Given the description of an element on the screen output the (x, y) to click on. 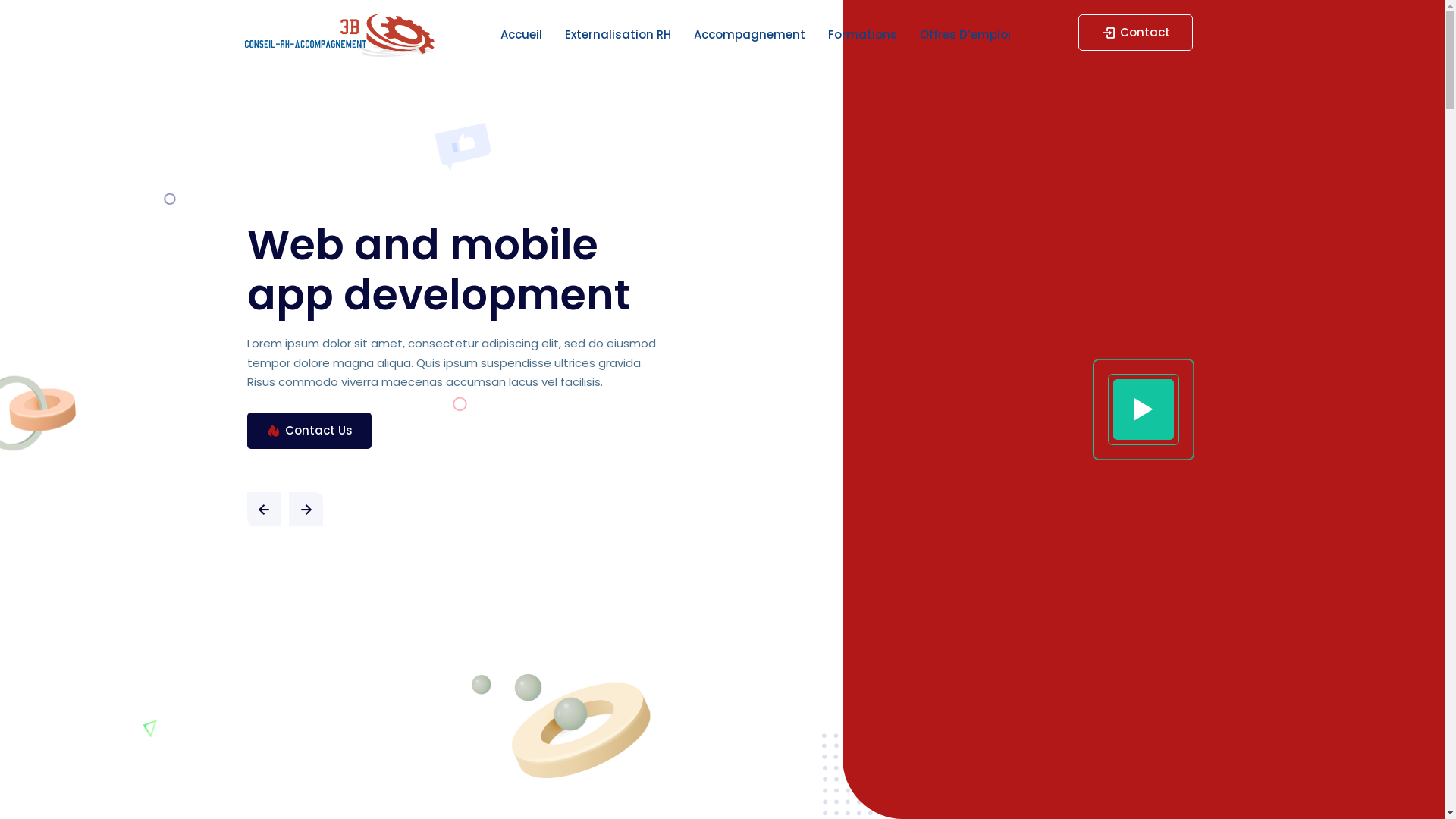
Accompagnement Element type: text (749, 34)
Contact Element type: text (1135, 32)
Formations Element type: text (862, 34)
Contact Us Element type: text (309, 430)
Accueil Element type: text (521, 34)
Externalisation RH Element type: text (617, 34)
